Given the description of an element on the screen output the (x, y) to click on. 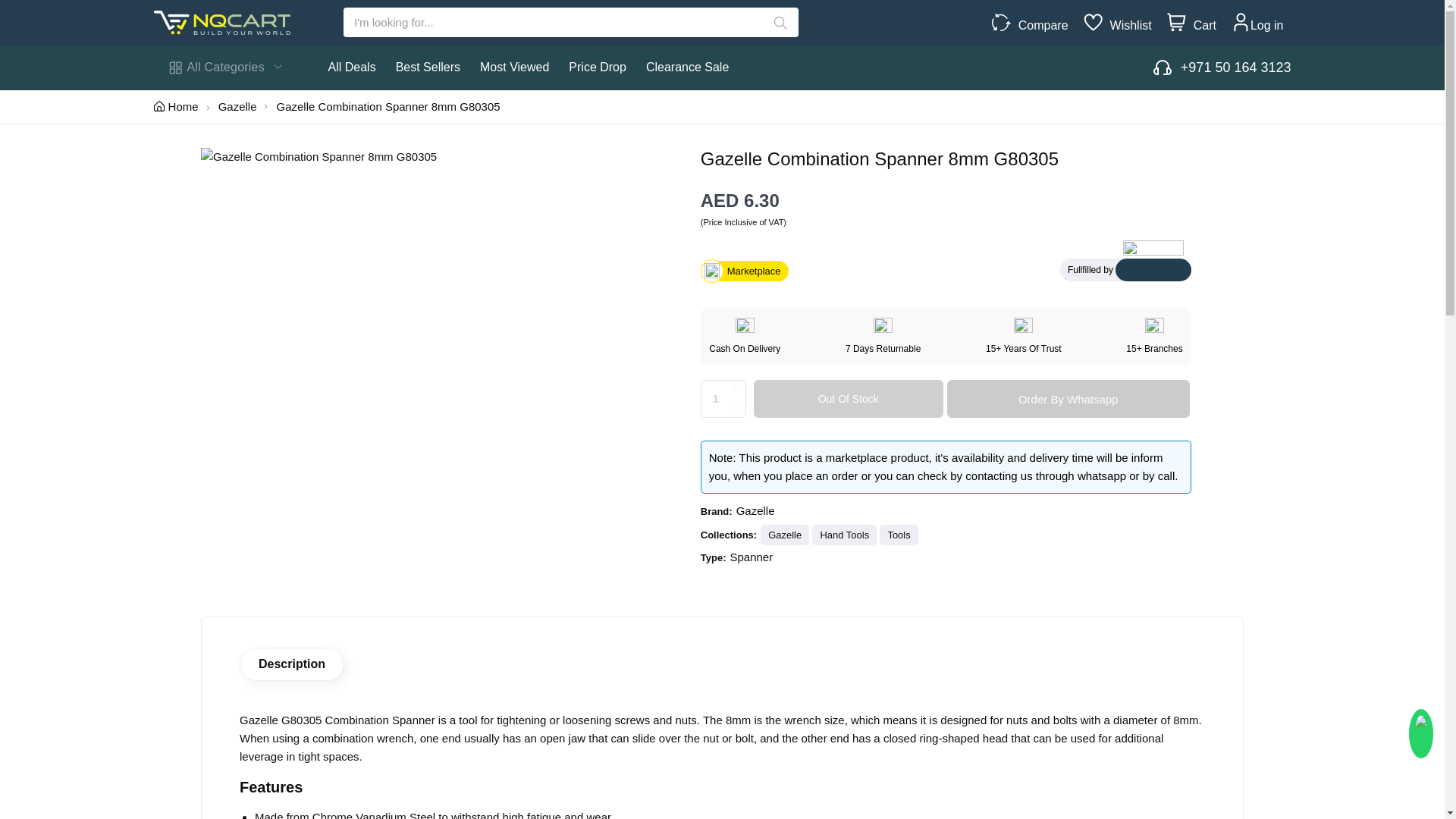
1 (723, 398)
items (1176, 22)
Cart (1200, 25)
Compare (1039, 25)
Log in (1267, 25)
All Categories (224, 67)
Wishlist (1126, 25)
